Given the description of an element on the screen output the (x, y) to click on. 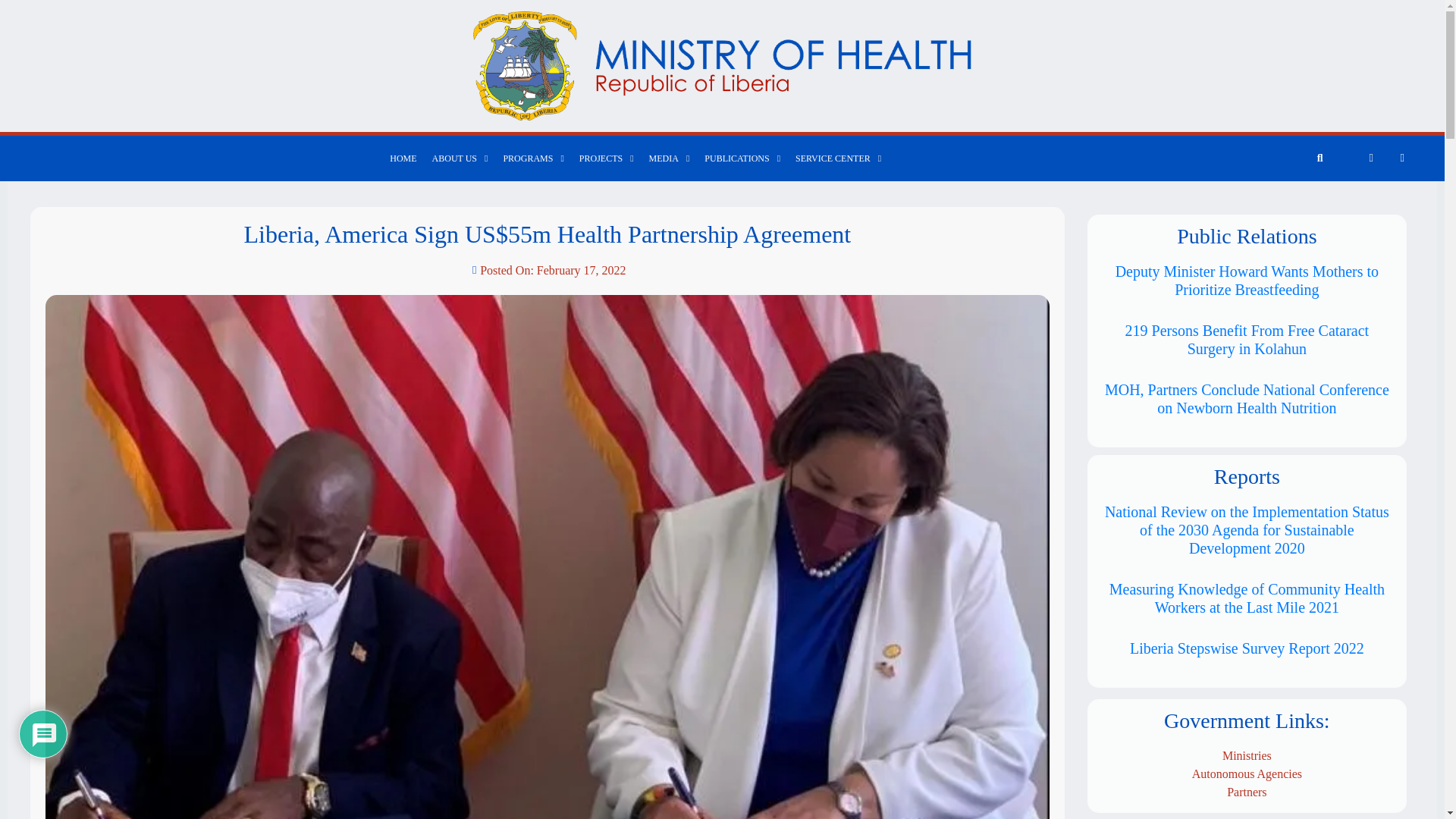
MEDIA (669, 157)
PUBLICATIONS (742, 157)
PROGRAMS (532, 157)
HOME (402, 157)
ABOUT US (460, 157)
PROJECTS (607, 157)
